Given the description of an element on the screen output the (x, y) to click on. 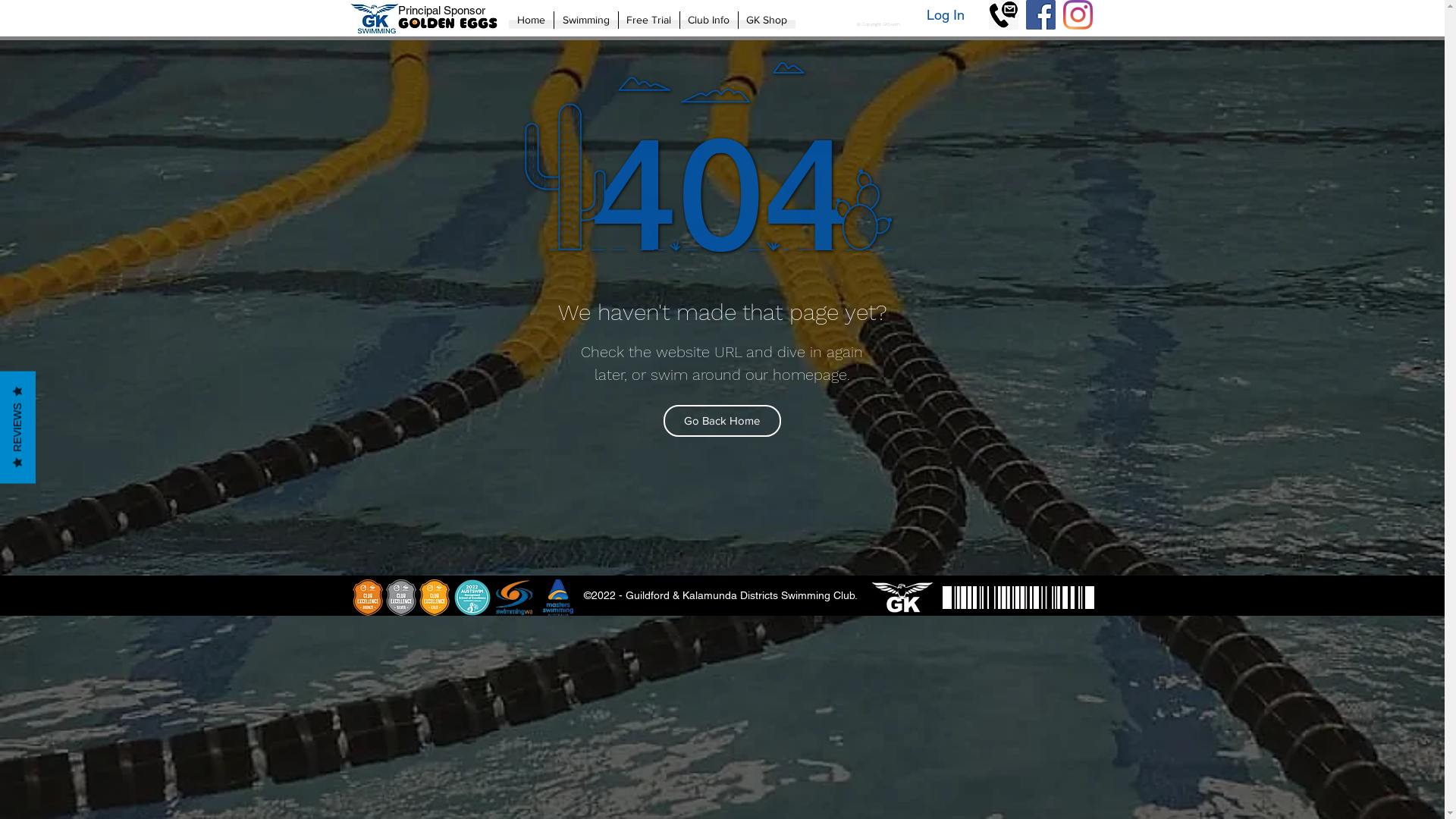
FTGP_ClubExcellence_GOLD.png Element type: hover (433, 597)
Home Element type: text (530, 19)
Go Back Home Element type: text (721, 420)
FTGP_ClubExcellence_SILVER.png Element type: hover (400, 597)
Club Info Element type: text (708, 19)
Swimming Element type: text (585, 19)
Free Trial Element type: text (648, 19)
Log In Element type: text (945, 14)
